Given the description of an element on the screen output the (x, y) to click on. 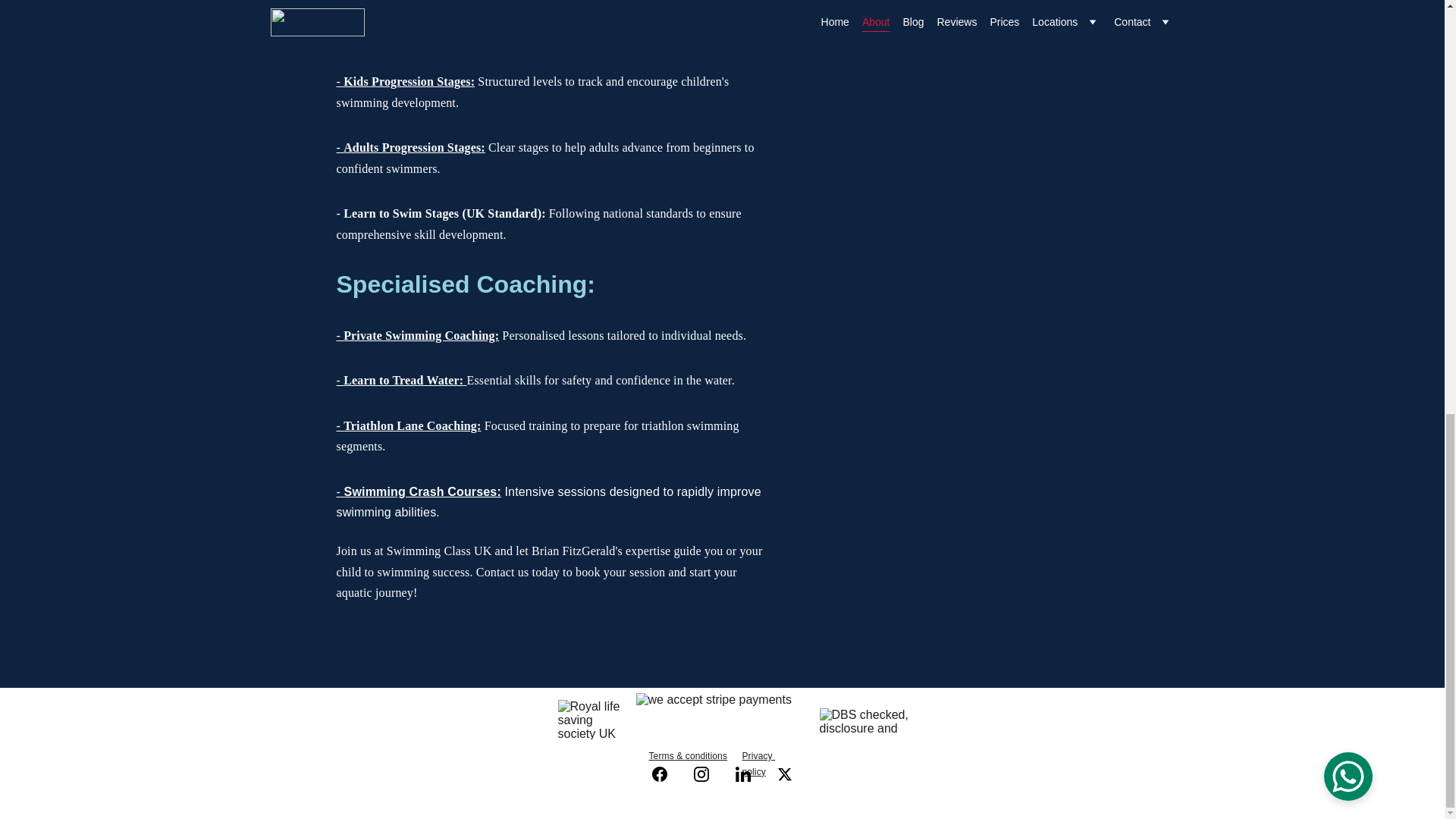
Go to Instagram page (708, 774)
we accept stripe payments (721, 718)
Royal life saving society UK (590, 719)
Go to Facebook page (667, 774)
Go to Twitter page (784, 774)
DBS checked, disclosure and barring service (864, 722)
Go to Linkedin-in page (750, 774)
